Given the description of an element on the screen output the (x, y) to click on. 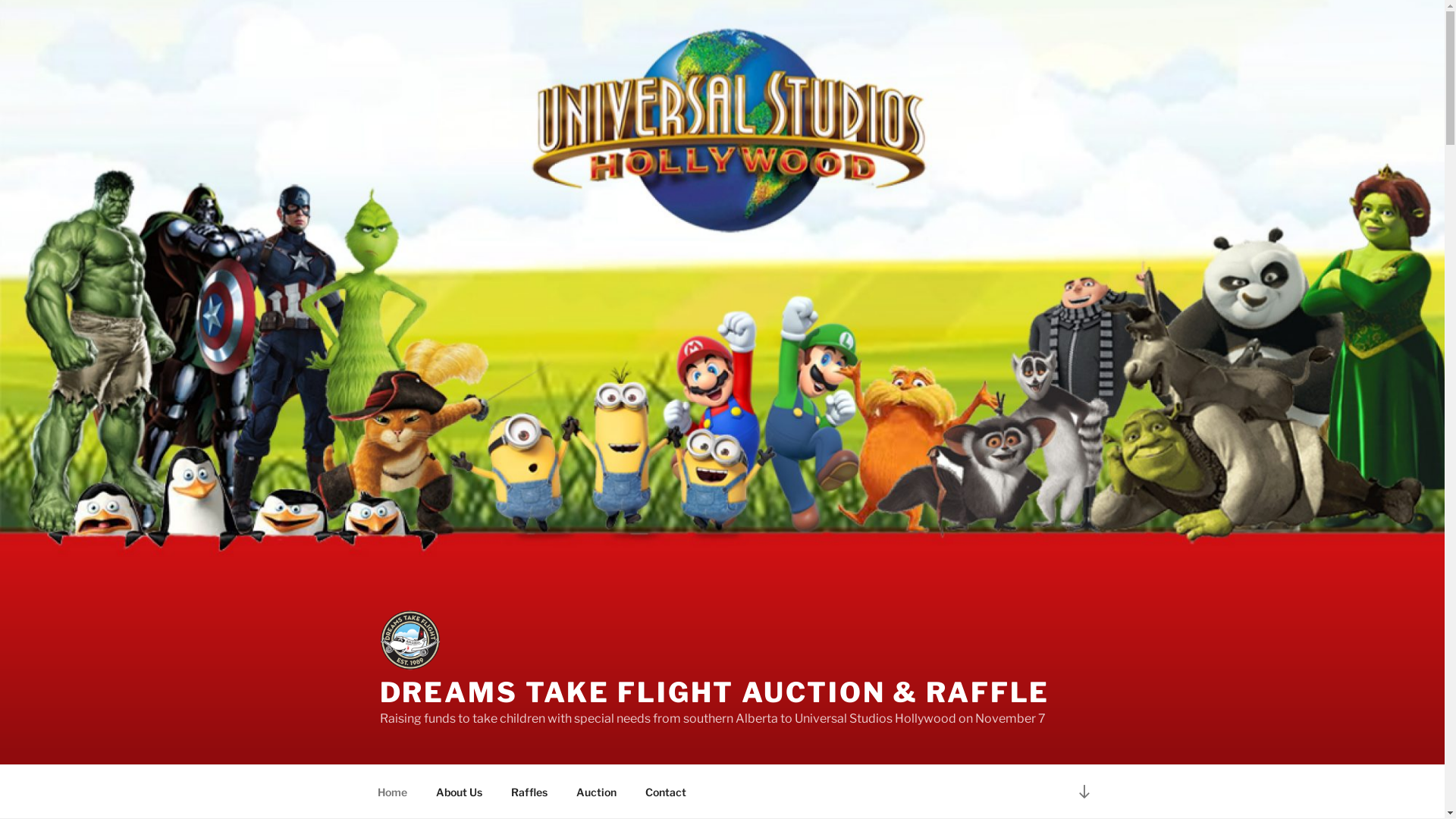
Scroll down to content Element type: text (1083, 790)
Raffles Element type: text (528, 791)
Auction Element type: text (595, 791)
Home Element type: text (392, 791)
Contact Element type: text (665, 791)
DREAMS TAKE FLIGHT AUCTION & RAFFLE Element type: text (714, 692)
About Us Element type: text (459, 791)
